Given the description of an element on the screen output the (x, y) to click on. 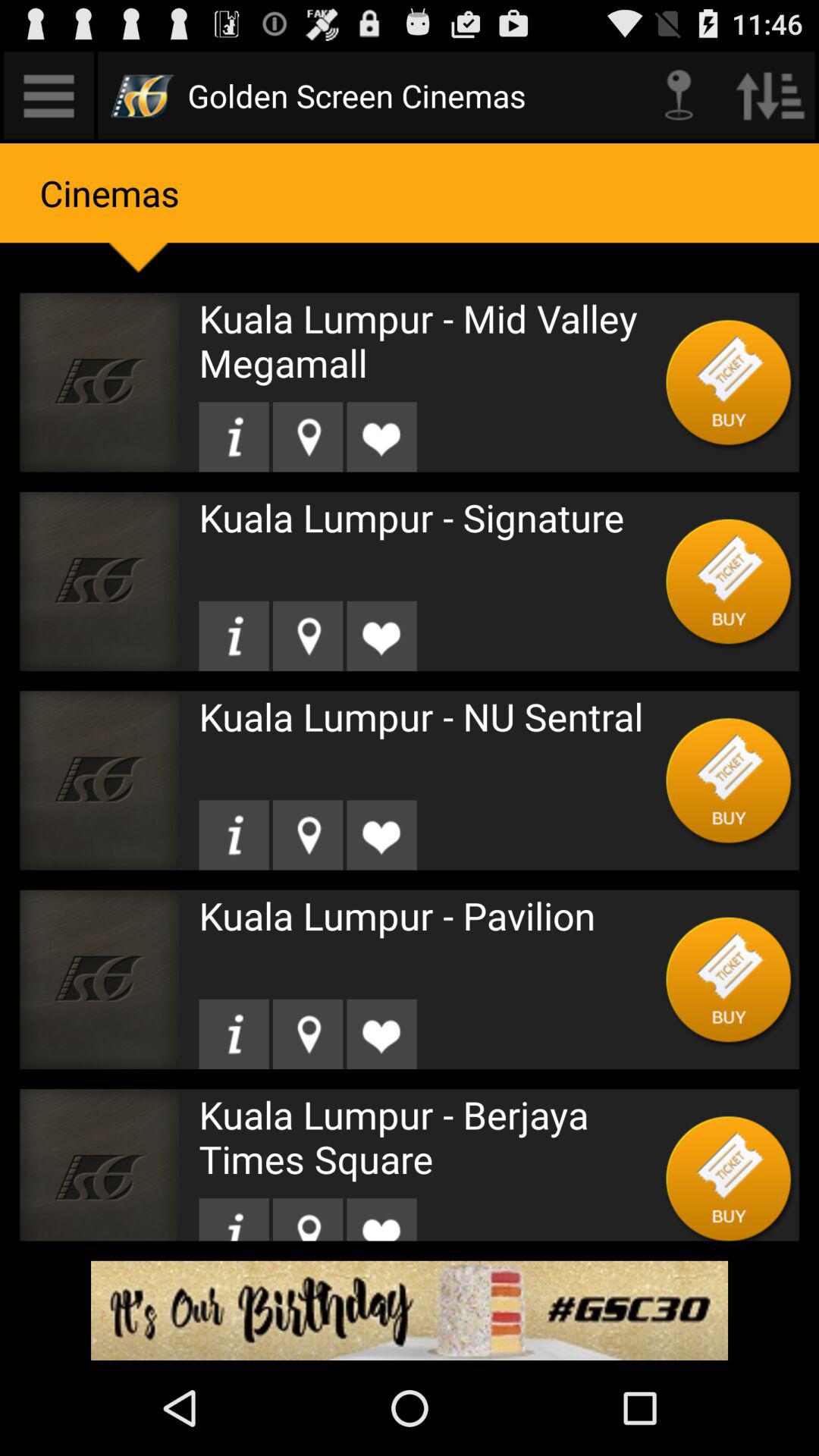
location icon (307, 1034)
